Given the description of an element on the screen output the (x, y) to click on. 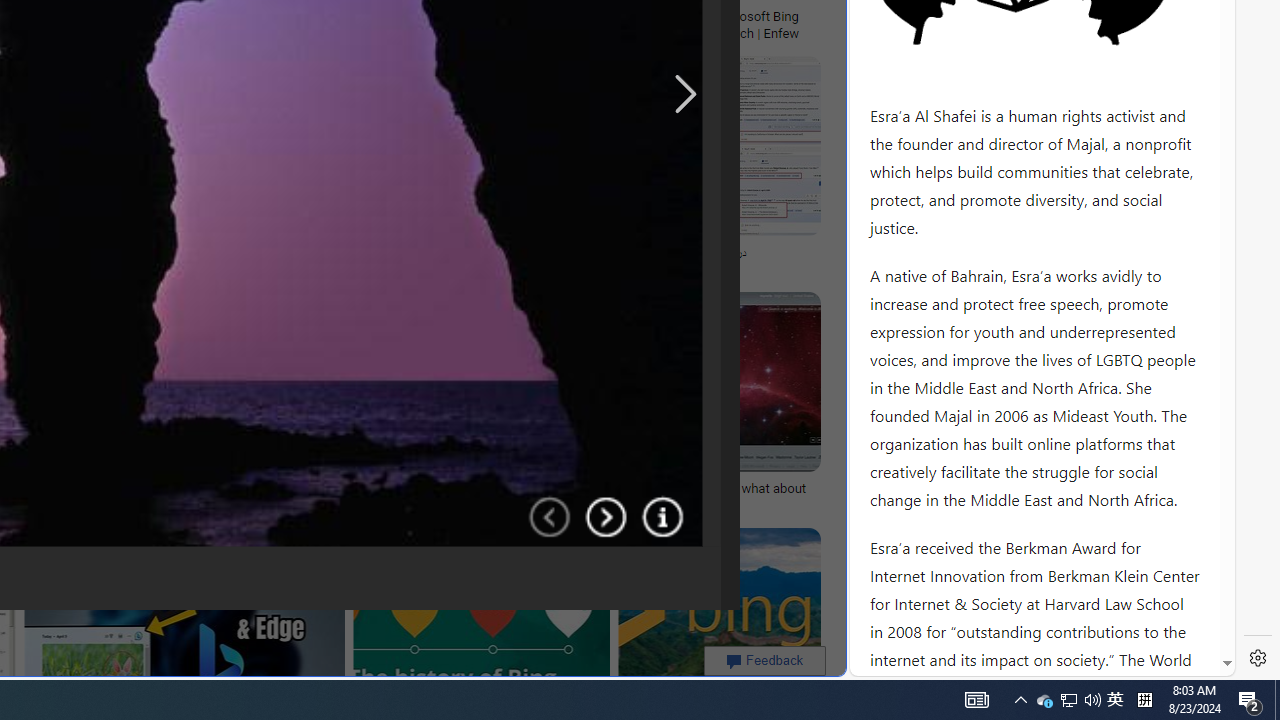
Microsoft Bing Search | Enfew (763, 24)
